Given the description of an element on the screen output the (x, y) to click on. 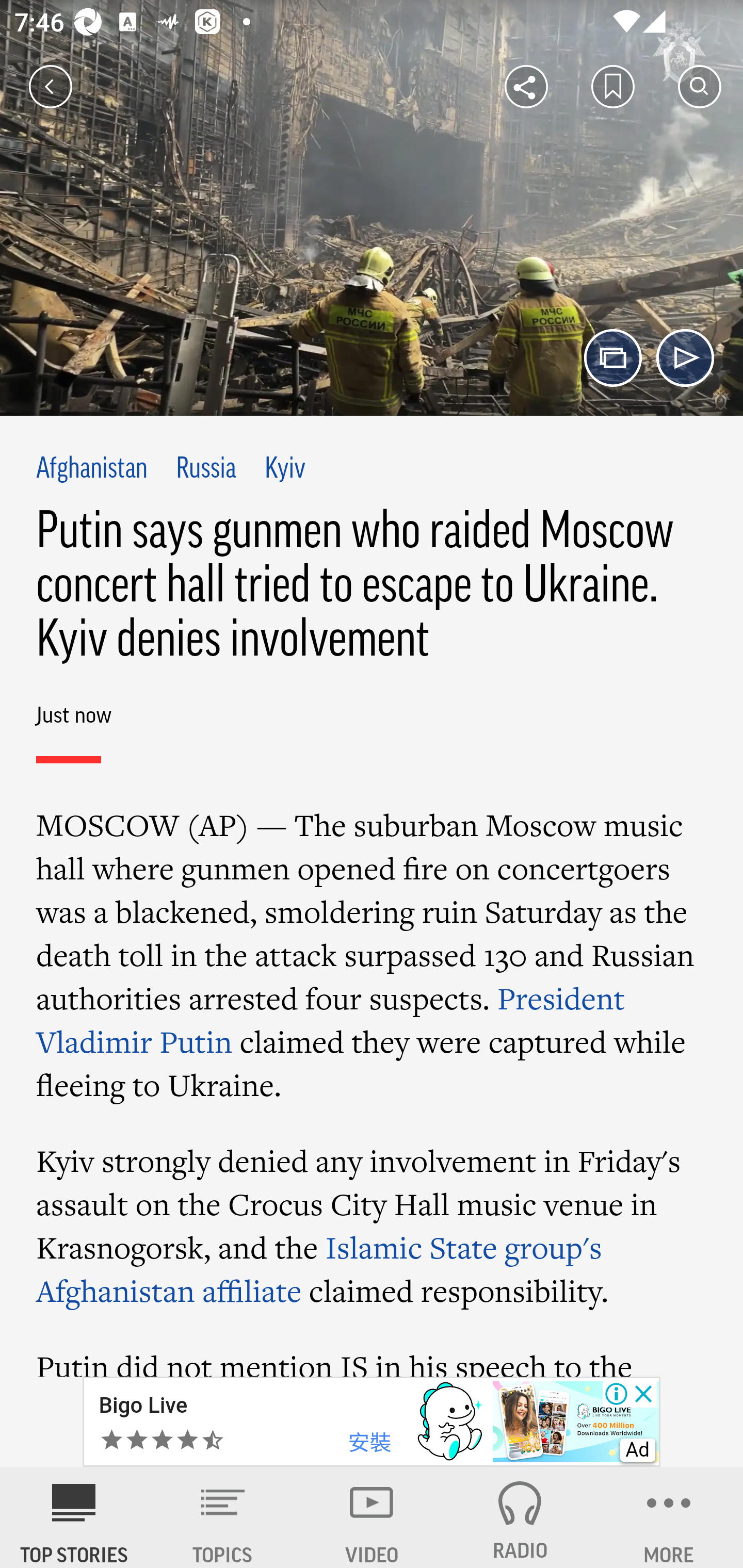
AP News TOP STORIES (74, 1517)
TOPICS (222, 1517)
VIDEO (371, 1517)
RADIO (519, 1517)
MORE (668, 1517)
